Given the description of an element on the screen output the (x, y) to click on. 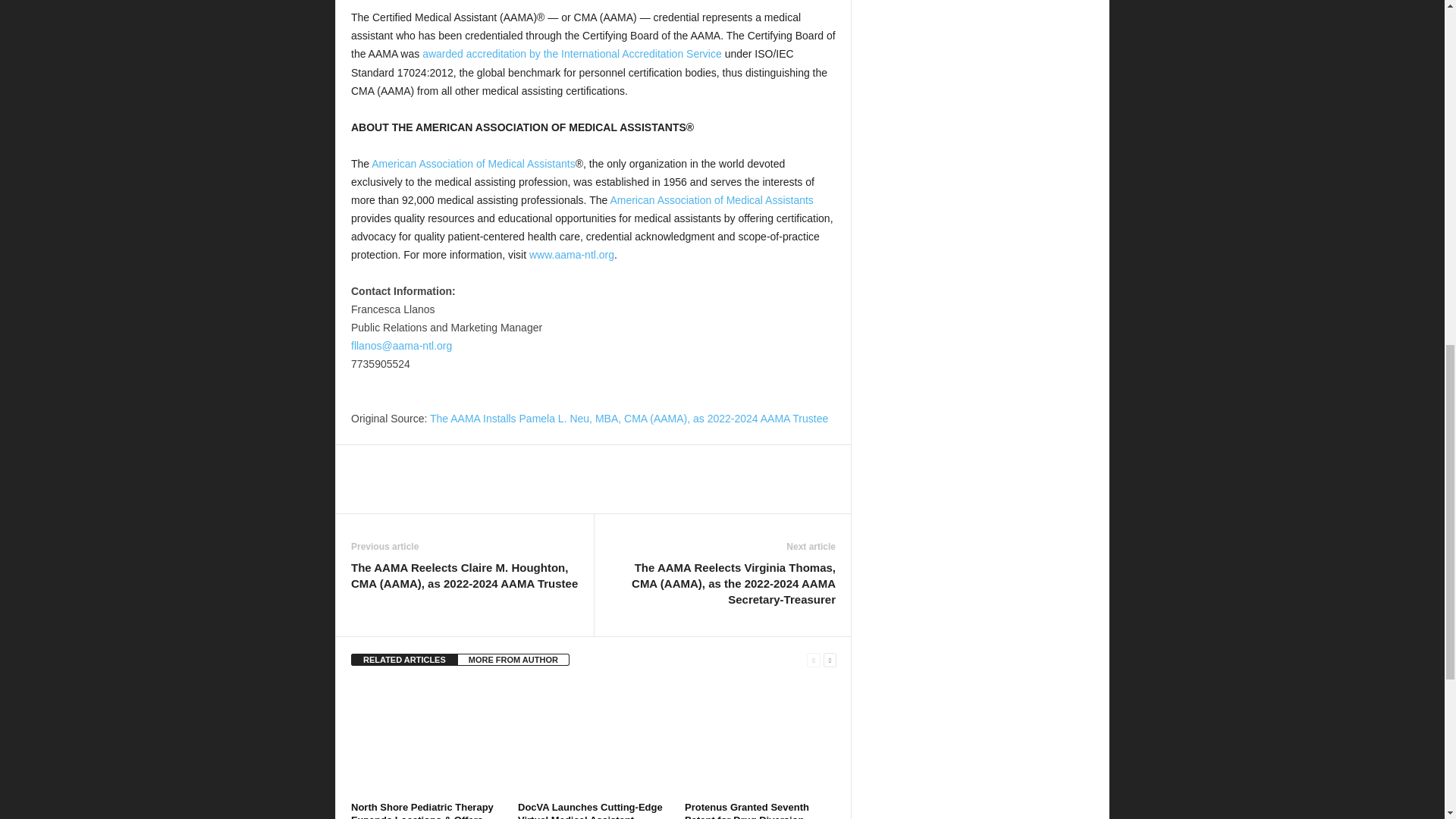
American Association of Medical Assistants (473, 163)
www.aama-ntl.org (571, 254)
American Association of Medical Assistants (711, 200)
